Given the description of an element on the screen output the (x, y) to click on. 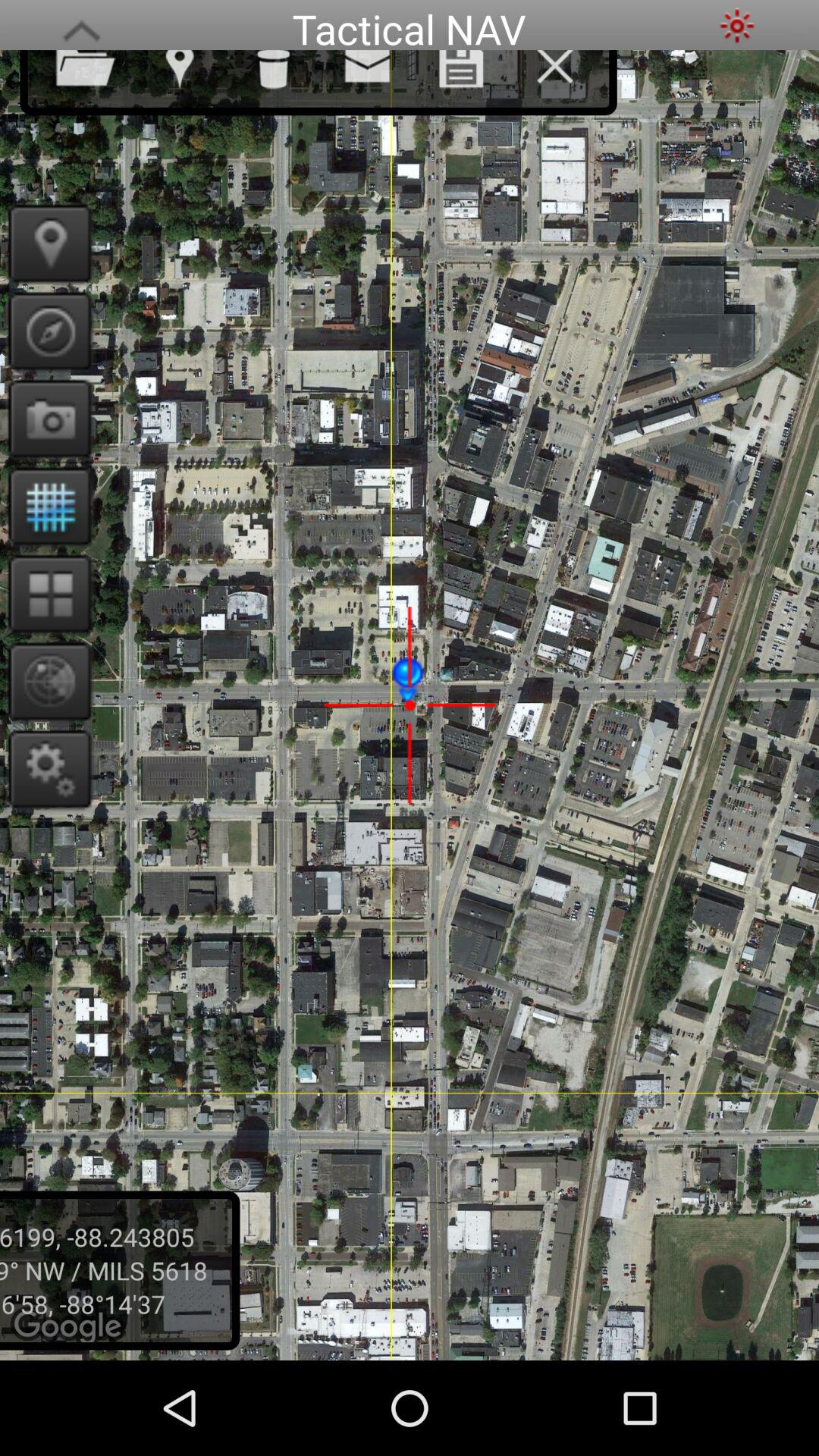
open new apps (45, 593)
